Given the description of an element on the screen output the (x, y) to click on. 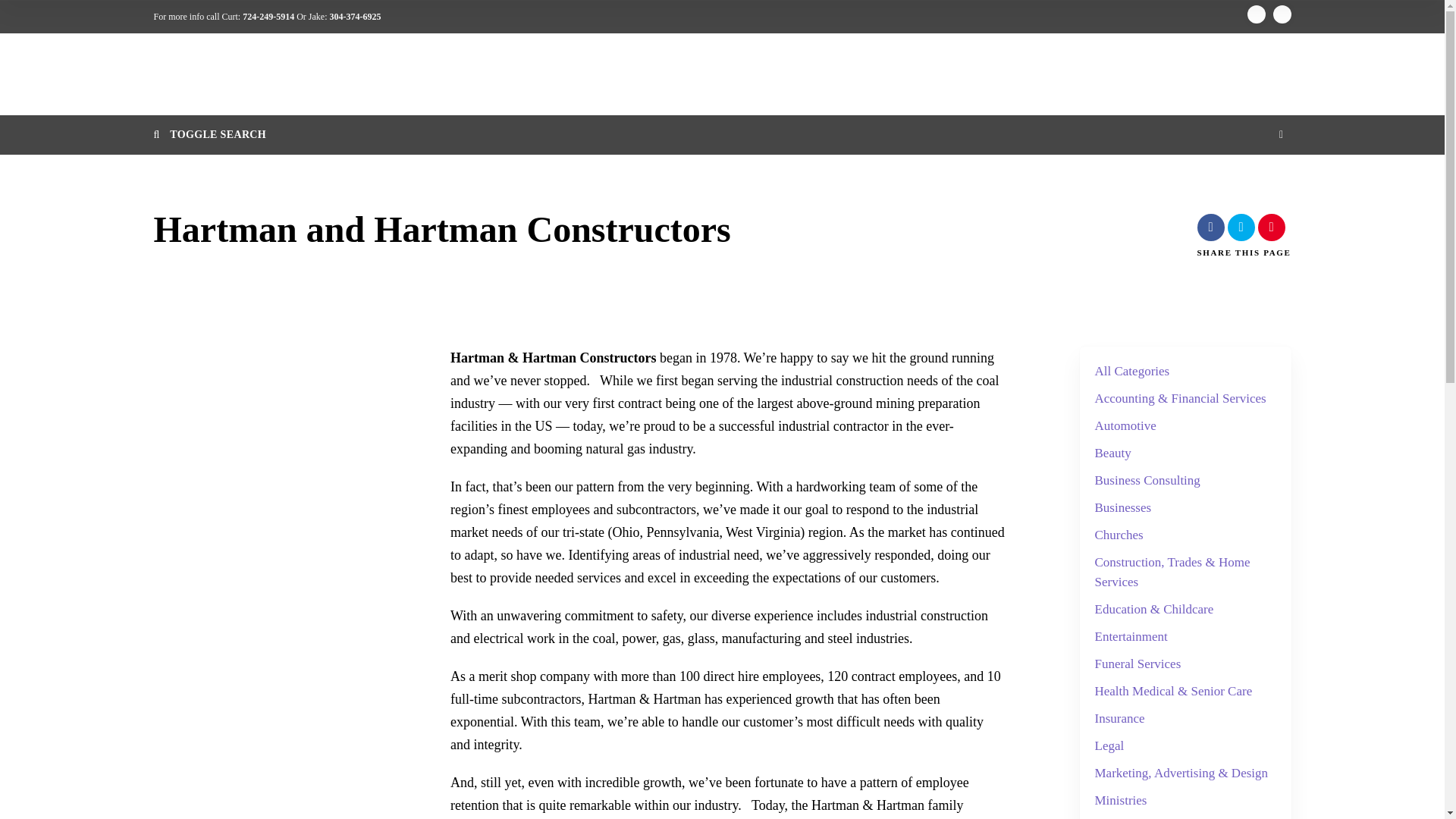
Automotive (1125, 425)
TOGGLE SEARCH (721, 134)
Entertainment (1130, 637)
Beauty (1112, 453)
304-374-6925 (354, 16)
All Categories (1132, 371)
724-249-5914 (268, 16)
Christian Business Directory (257, 72)
Business Consulting (1146, 480)
Funeral Services (1137, 664)
